Given the description of an element on the screen output the (x, y) to click on. 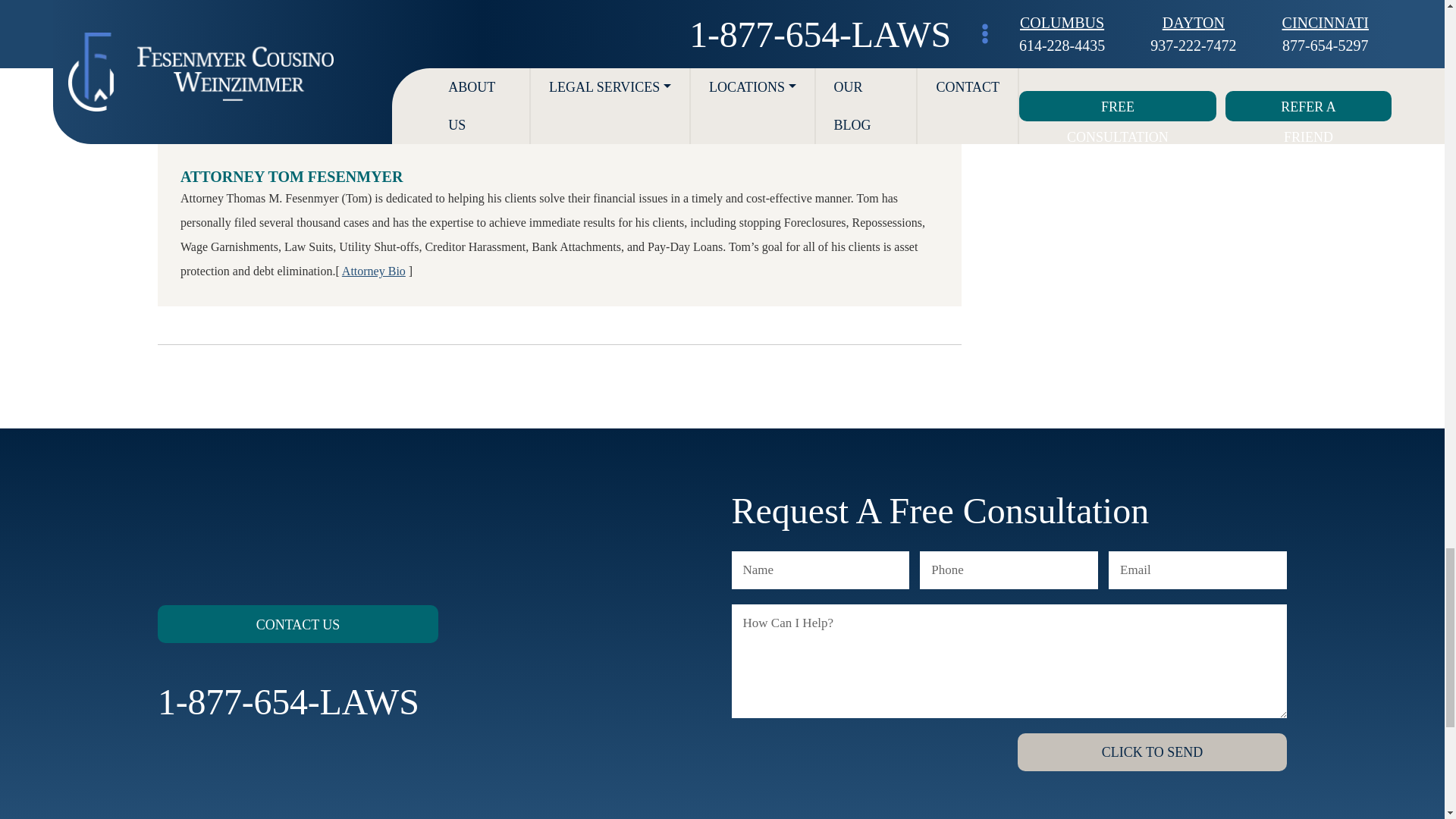
explore debt relief options (548, 28)
Attorney Bio (374, 270)
click to send (1152, 752)
